Given the description of an element on the screen output the (x, y) to click on. 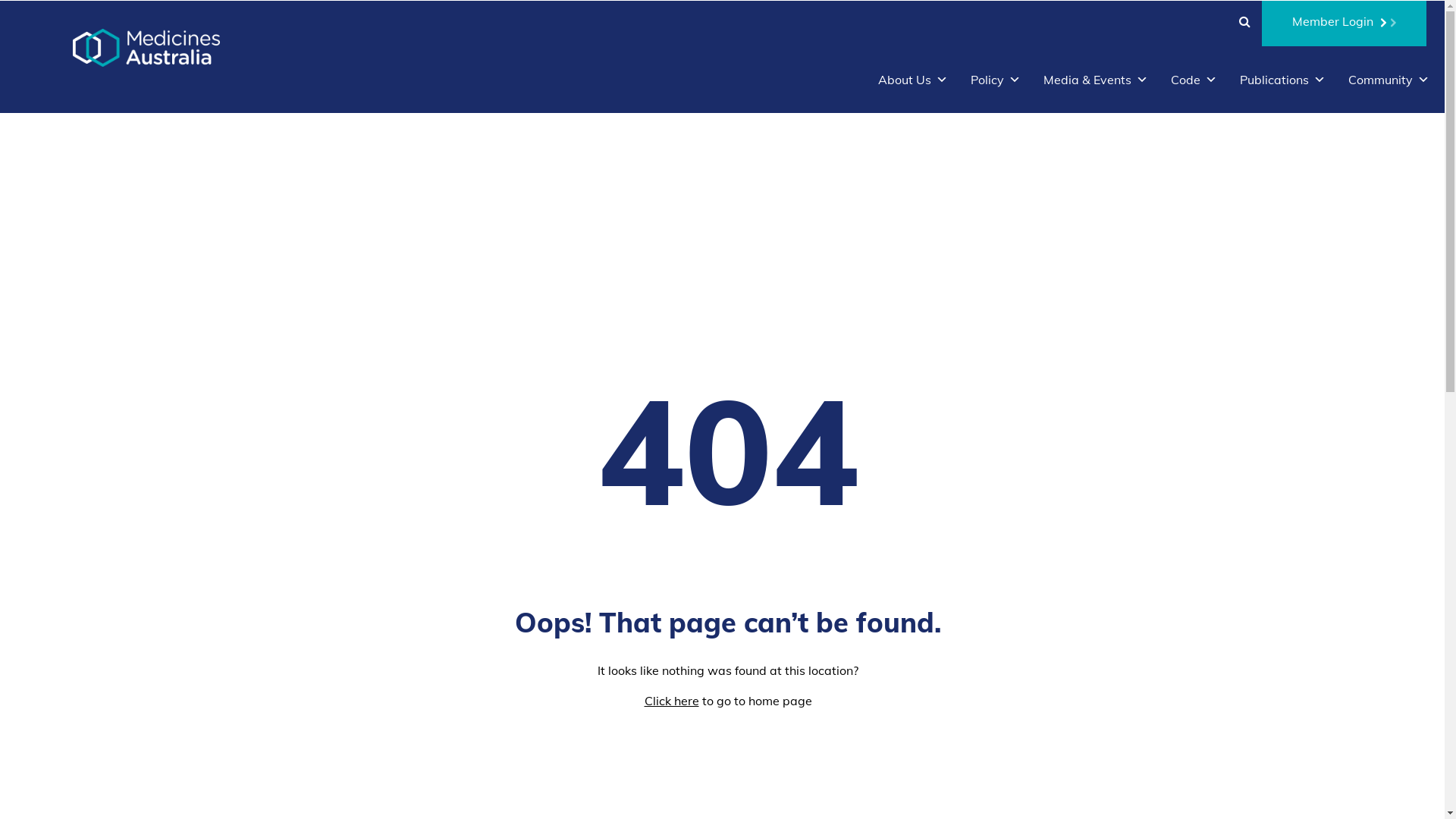
Publications Element type: text (1282, 79)
Community Element type: text (1388, 79)
Media & Events Element type: text (1095, 79)
Policy Element type: text (995, 79)
Code Element type: text (1193, 79)
Member Login Element type: text (1343, 23)
Click here Element type: text (671, 700)
About Us Element type: text (912, 79)
